Given the description of an element on the screen output the (x, y) to click on. 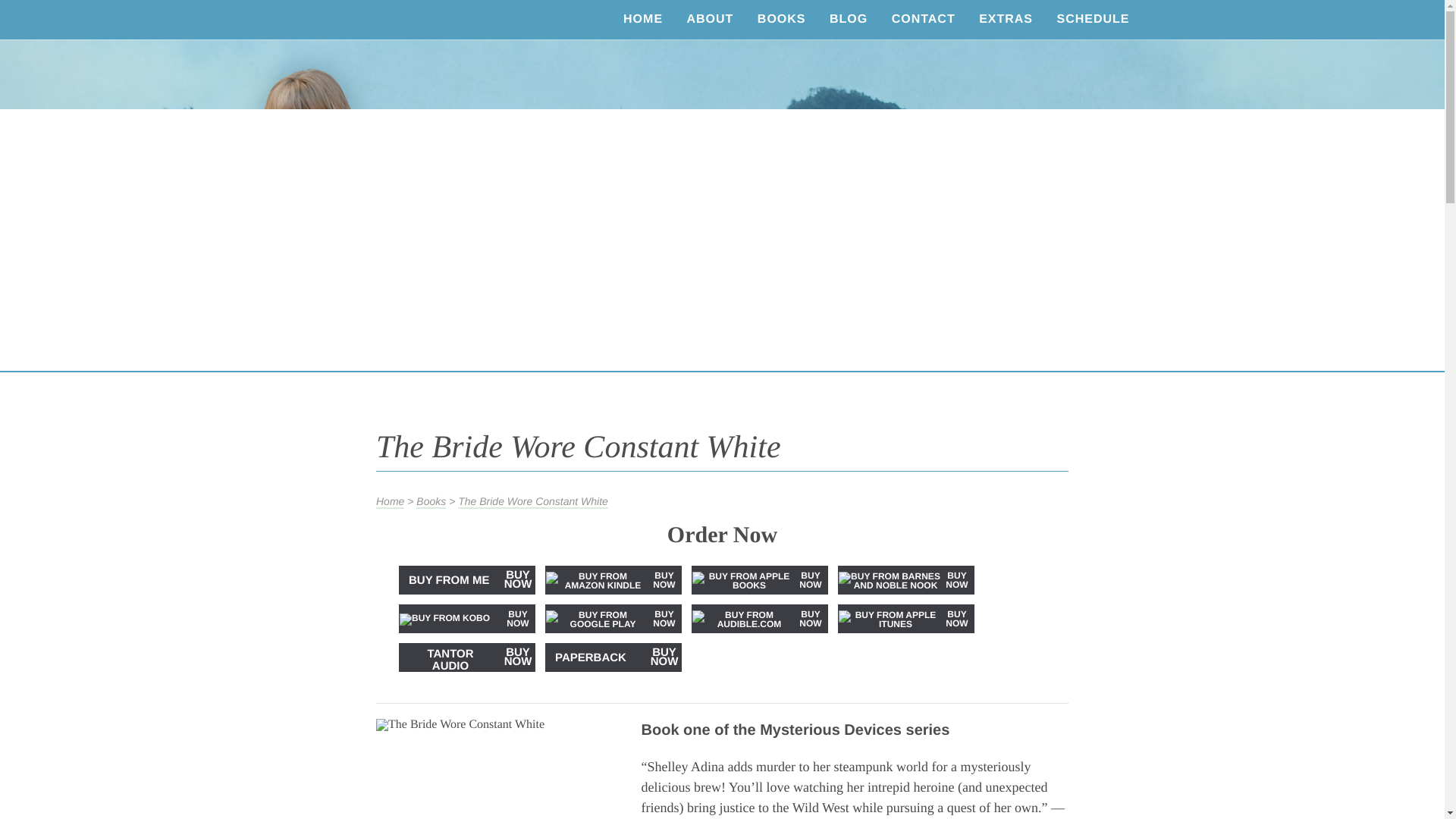
BOOKS (781, 19)
Books (430, 501)
Home (389, 501)
The Bride Wore Constant White (533, 501)
BLOG (848, 19)
ABOUT (709, 19)
HOME (642, 19)
SCHEDULE (1092, 19)
EXTRAS (1005, 19)
BUY FROM ME (447, 580)
CONTACT (923, 19)
